Given the description of an element on the screen output the (x, y) to click on. 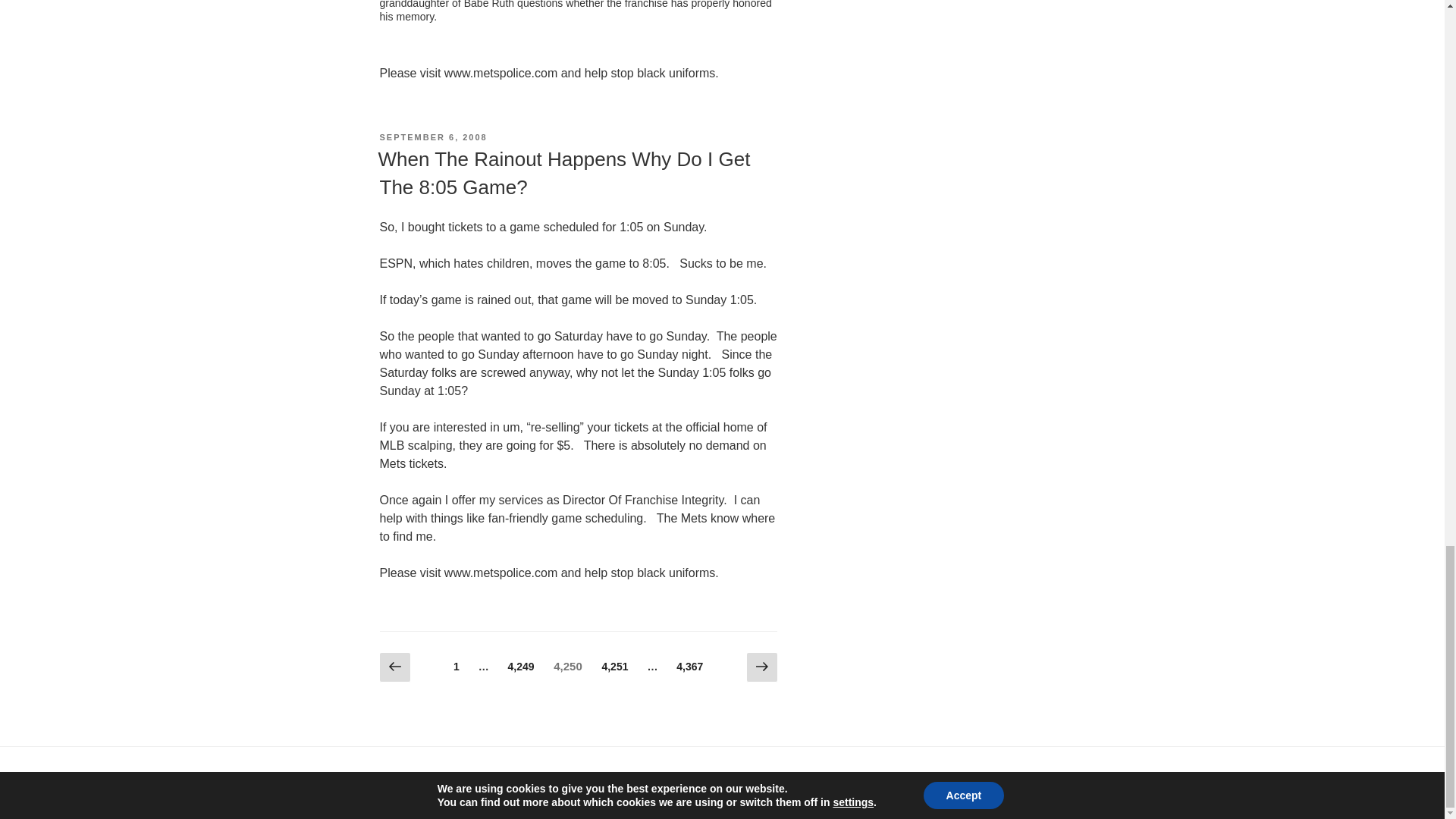
When The Rainout Happens Why Do I Get The 8:05 Game? (689, 666)
SEPTEMBER 6, 2008 (563, 173)
Proudly powered by WordPress (432, 136)
Privacy Policy (527, 784)
Next page (407, 784)
Previous page (615, 666)
